Given the description of an element on the screen output the (x, y) to click on. 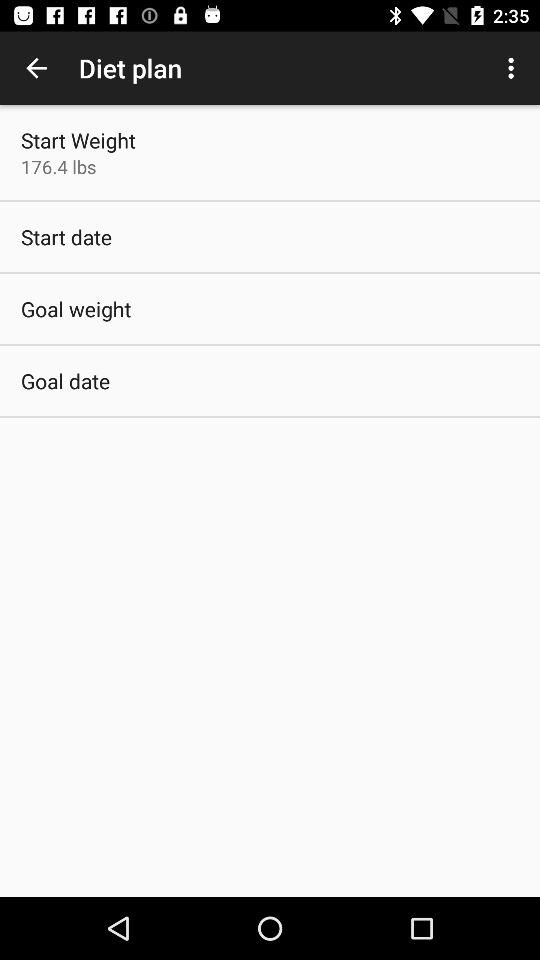
select icon on the left (65, 380)
